Given the description of an element on the screen output the (x, y) to click on. 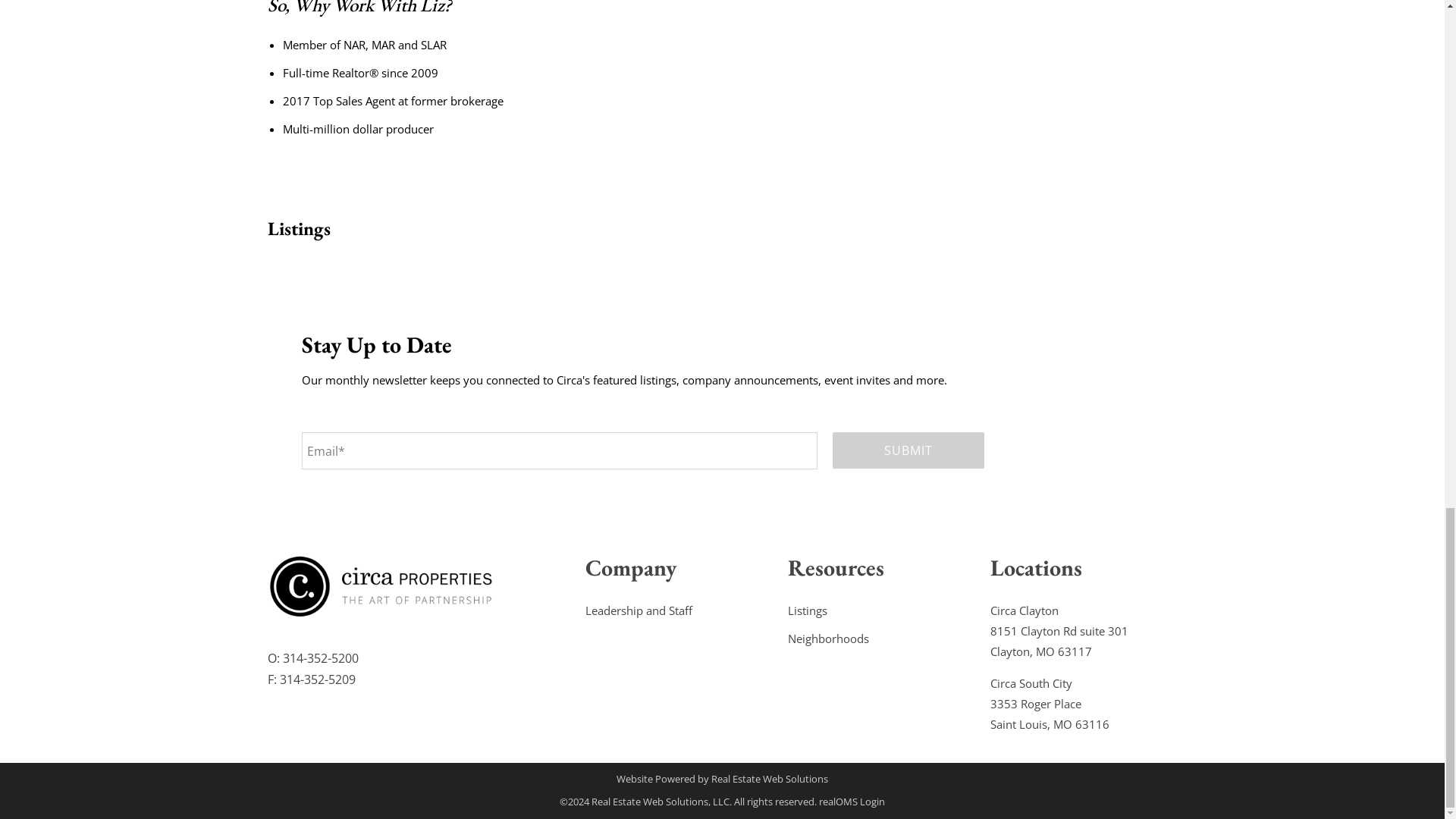
Circa South City (1030, 683)
314-352-5209 (317, 678)
Listings (807, 610)
Listings (807, 610)
Circa Clayton (1024, 610)
Website Powered by Real Estate Web Solutions (721, 778)
Leadership and Staff (639, 610)
Neighborhoods (828, 638)
314-352-5200 (320, 658)
Neighborhoods (828, 638)
SUBMIT (908, 450)
Leadership and Staff (639, 610)
